Given the description of an element on the screen output the (x, y) to click on. 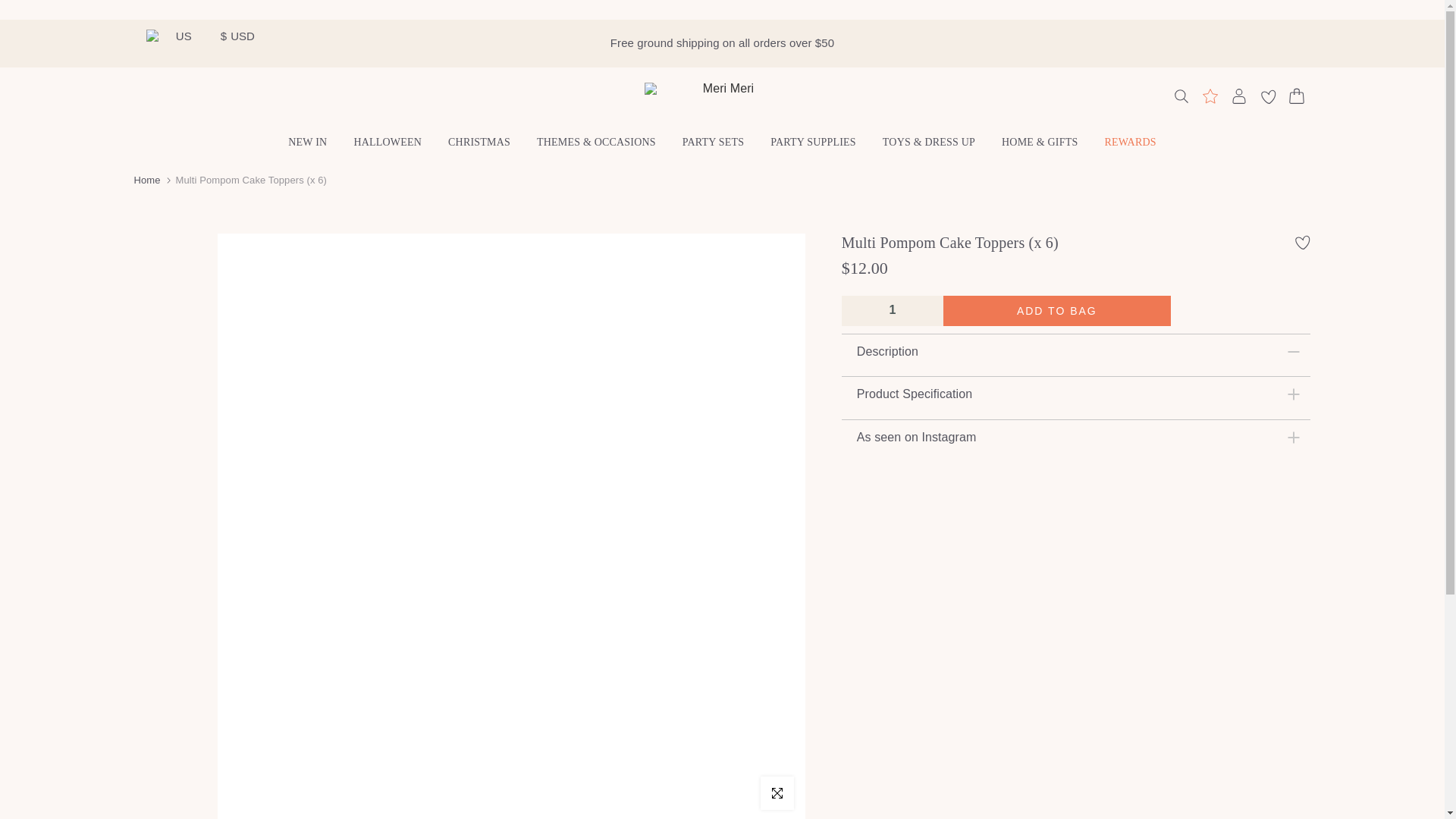
As seen on Instagram (1076, 437)
PARTY SETS (712, 142)
Party Perks landing page for rewards (1209, 95)
ADD TO BAG (1056, 310)
1 (892, 309)
Skip to Content (14, 7)
NEW IN (307, 142)
CHRISTMAS (479, 142)
Home (146, 180)
PARTY SUPPLIES (813, 142)
